Given the description of an element on the screen output the (x, y) to click on. 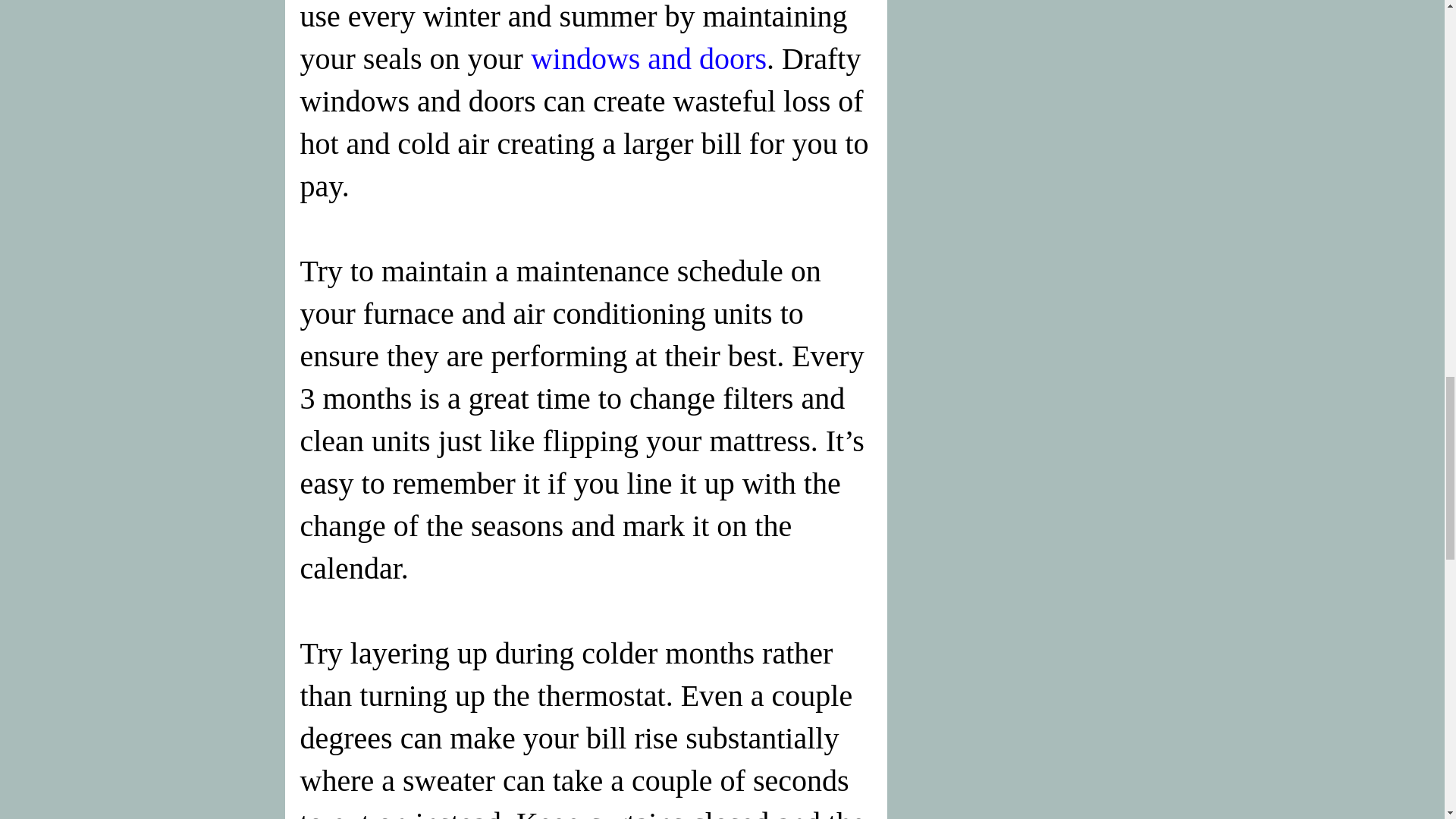
windows and doors (649, 58)
